Given the description of an element on the screen output the (x, y) to click on. 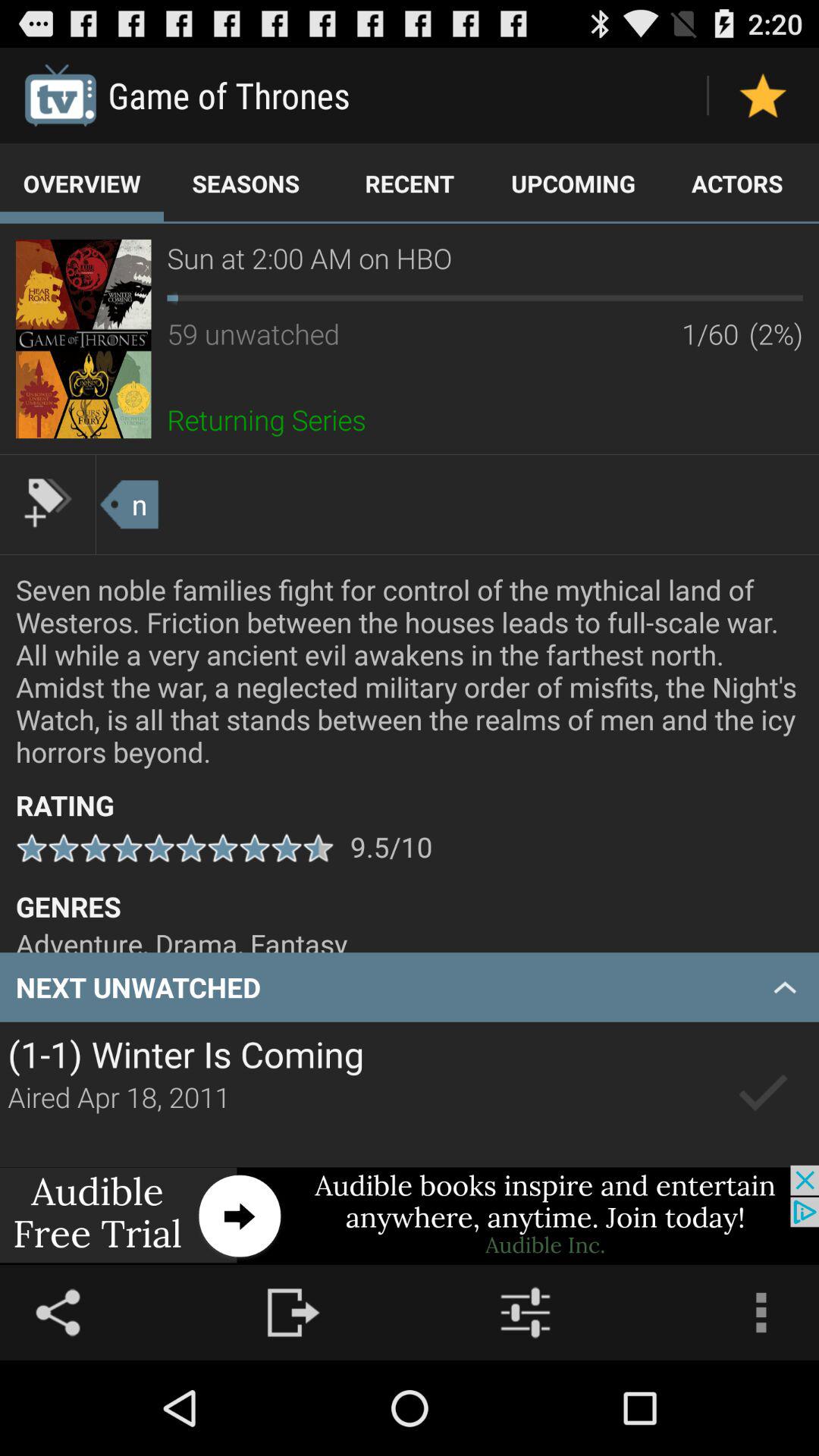
advertisement bar (409, 1214)
